Given the description of an element on the screen output the (x, y) to click on. 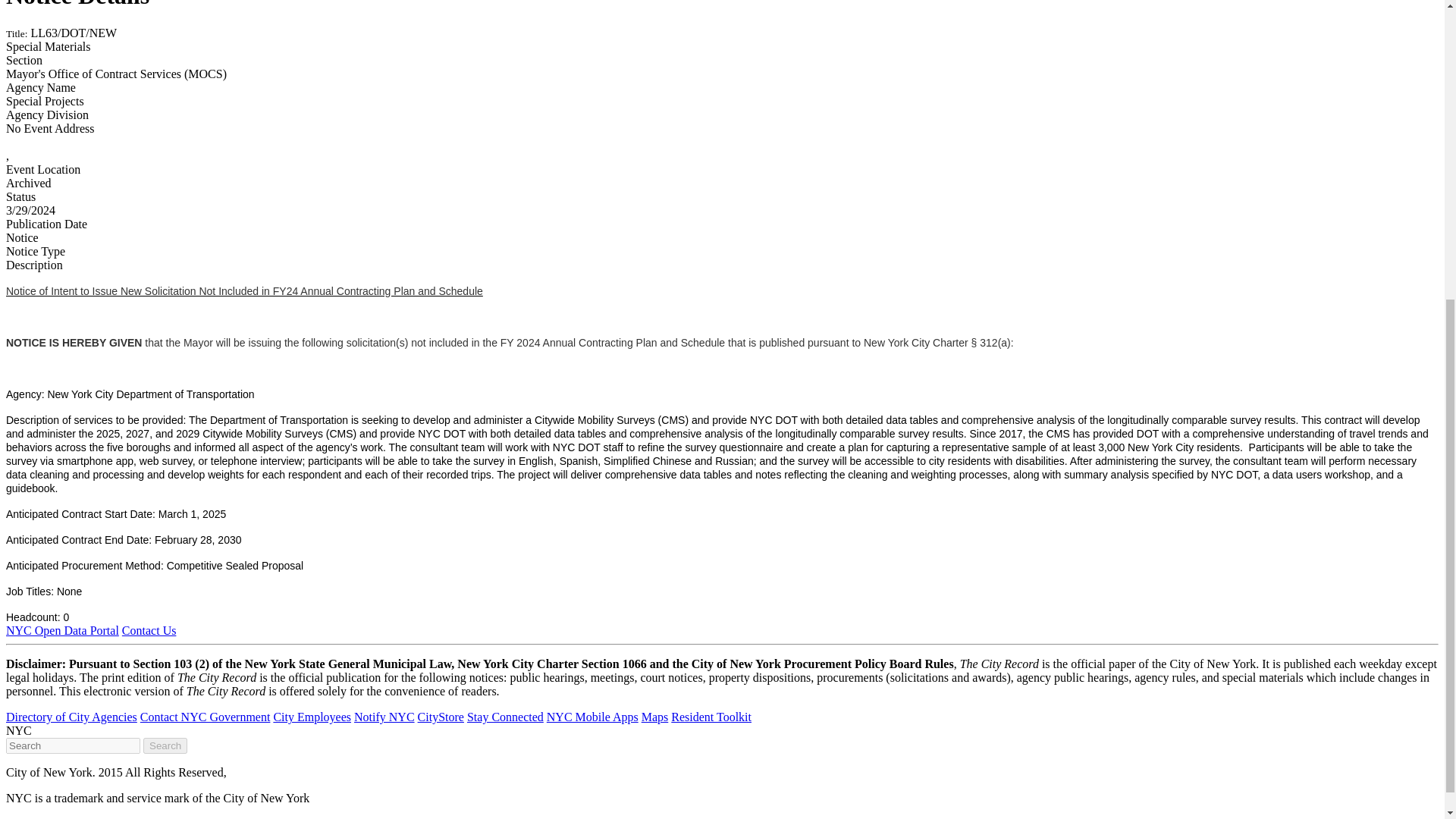
NYC Open Data Portal (62, 630)
CityStore (440, 716)
Contact Us (149, 630)
Notify NYC (383, 716)
Stay Connected (505, 716)
Directory of City Agencies (70, 716)
Contact NYC Government (204, 716)
City Employees (311, 716)
